Given the description of an element on the screen output the (x, y) to click on. 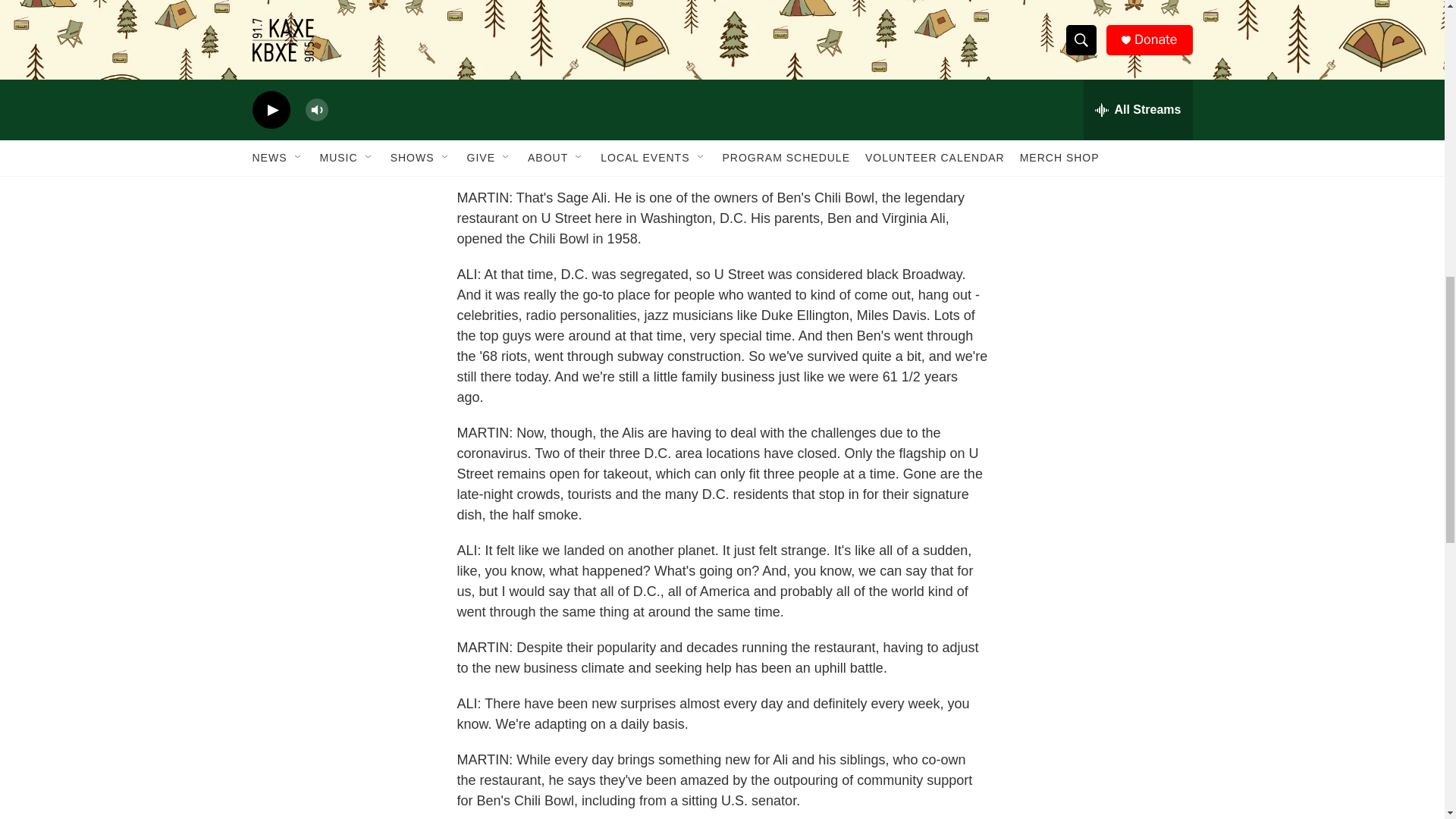
3rd party ad content (733, 59)
